Given the description of an element on the screen output the (x, y) to click on. 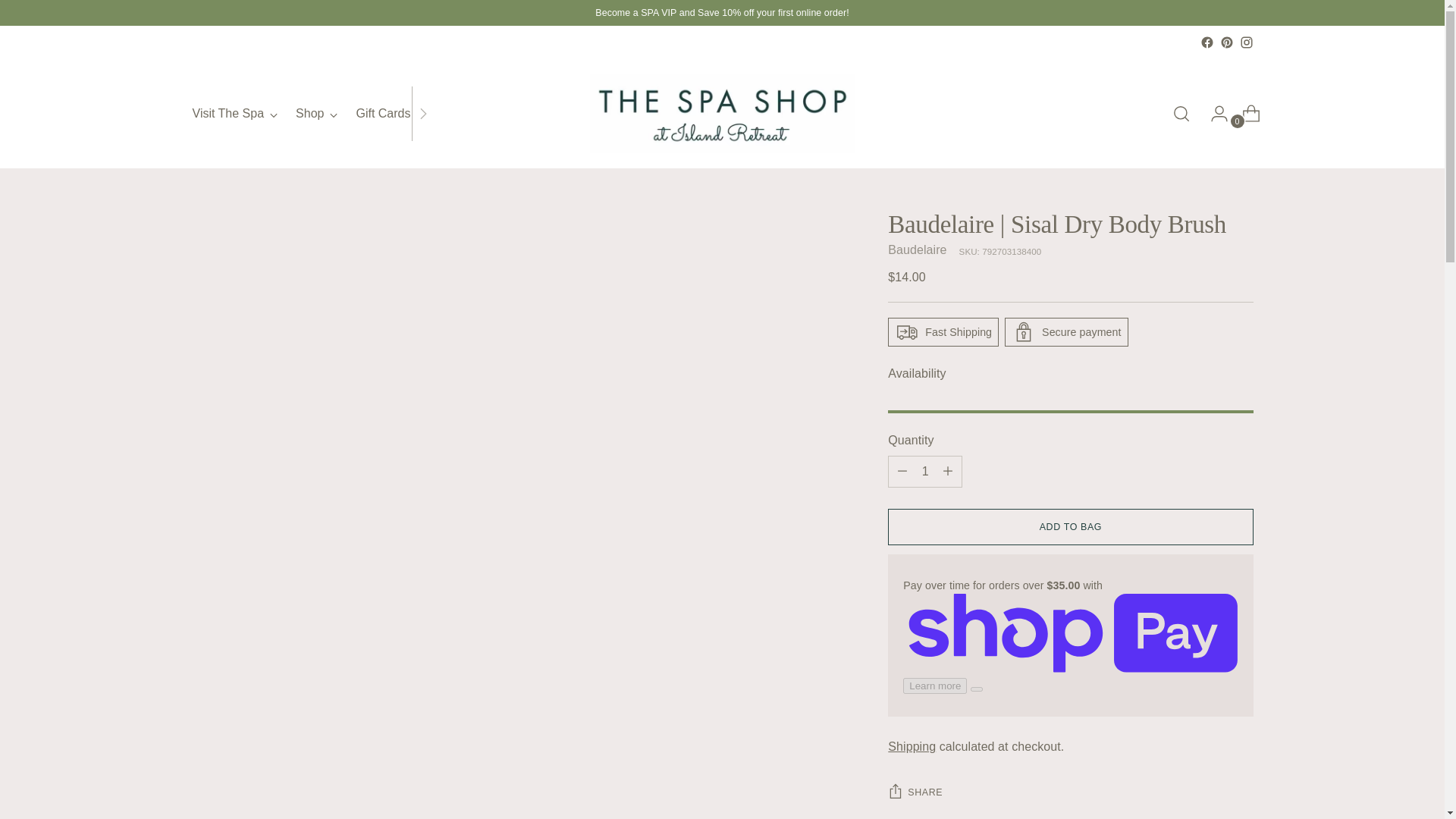
Baudelaire (917, 249)
Shop (316, 113)
1 (925, 471)
Island Retreat Spa Shop on Facebook (1205, 42)
Visit The Spa (235, 113)
Island Retreat Spa Shop on Pinterest (1226, 42)
Island Retreat Spa Shop on Instagram (311, 113)
